Given the description of an element on the screen output the (x, y) to click on. 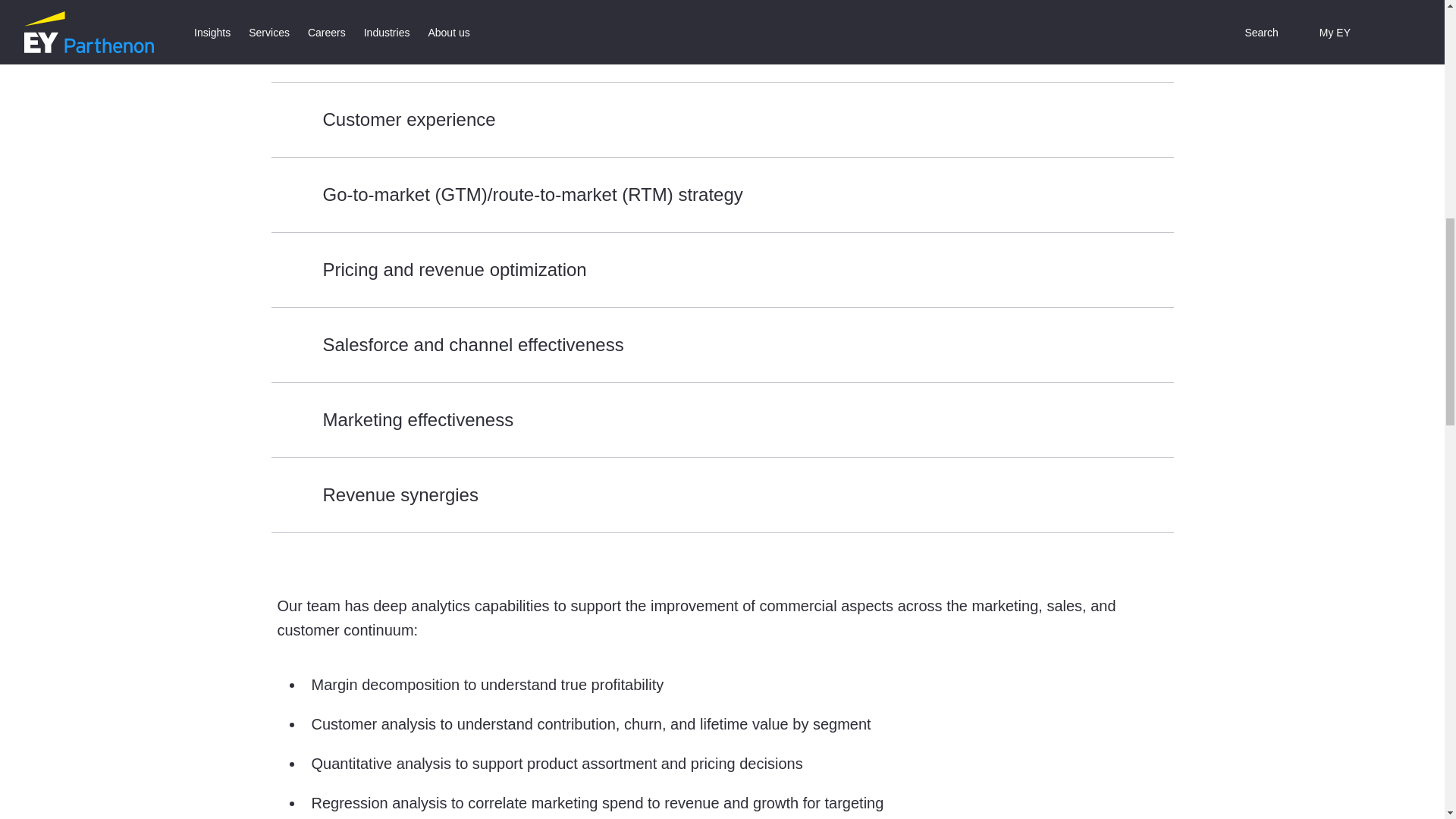
Customer experience (721, 119)
Pricing and revenue optimization (721, 269)
Salesforce and channel effectiveness (721, 343)
Revenue synergies (721, 493)
Commercial strategy (721, 43)
Marketing effectiveness (721, 419)
